Given the description of an element on the screen output the (x, y) to click on. 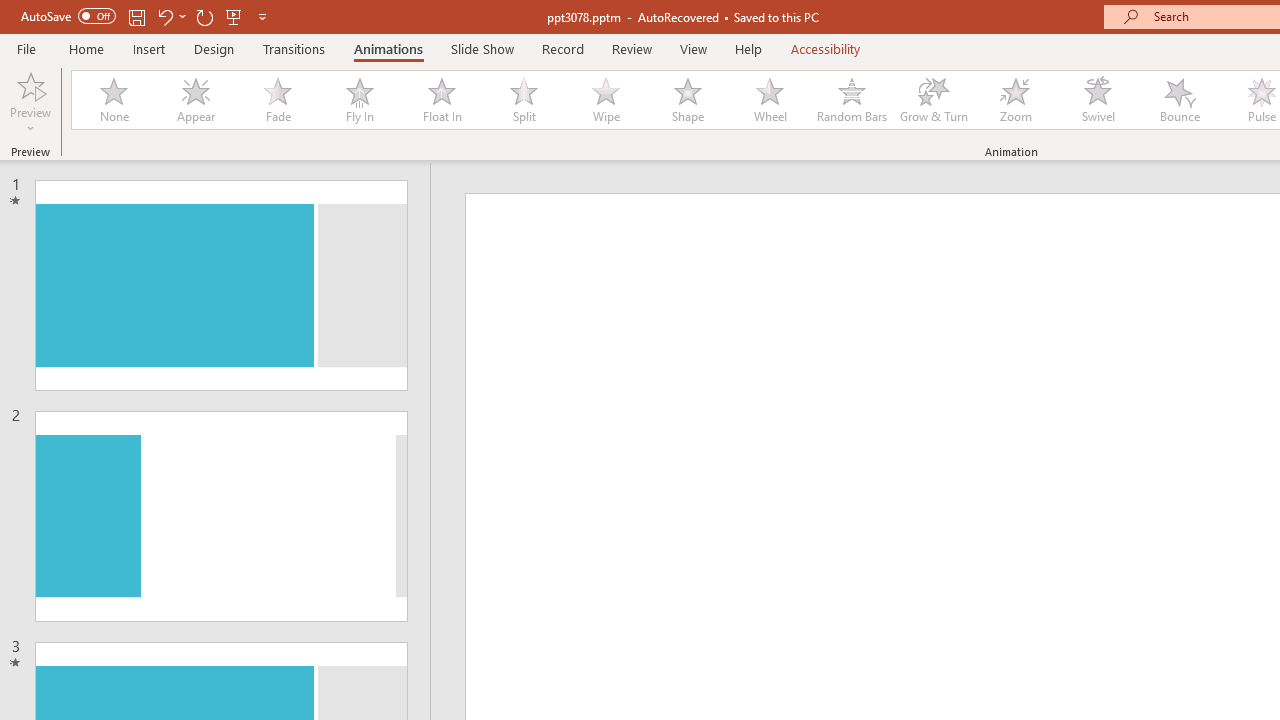
Wheel (770, 100)
Grow & Turn (934, 100)
Fade (277, 100)
Preview (30, 102)
None (113, 100)
